Given the description of an element on the screen output the (x, y) to click on. 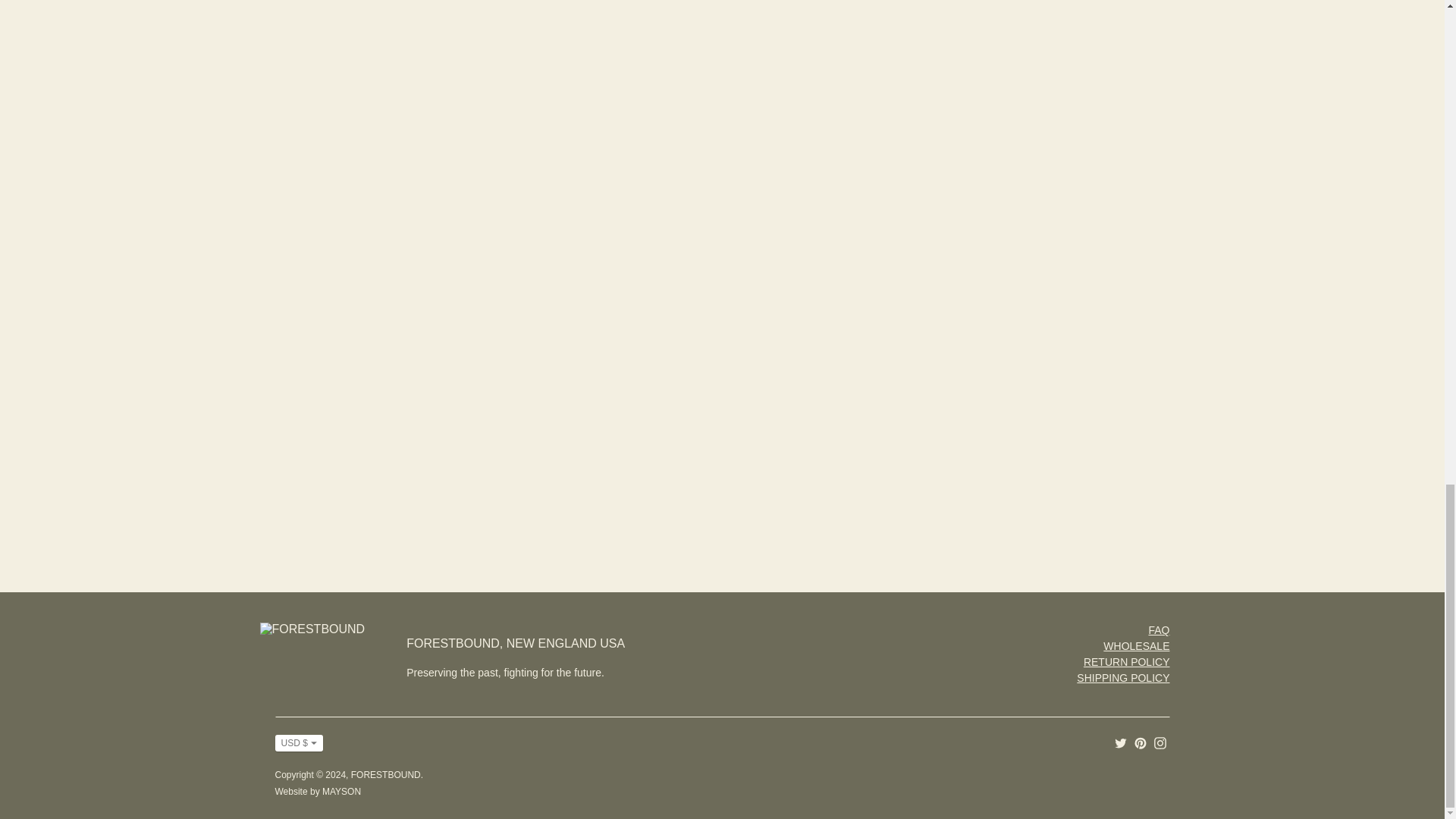
FORESTBOUND on Instagram (1160, 741)
FORESTBOUND on Pinterest (1140, 741)
FORESTBOUND on Twitter (1120, 741)
